Given the description of an element on the screen output the (x, y) to click on. 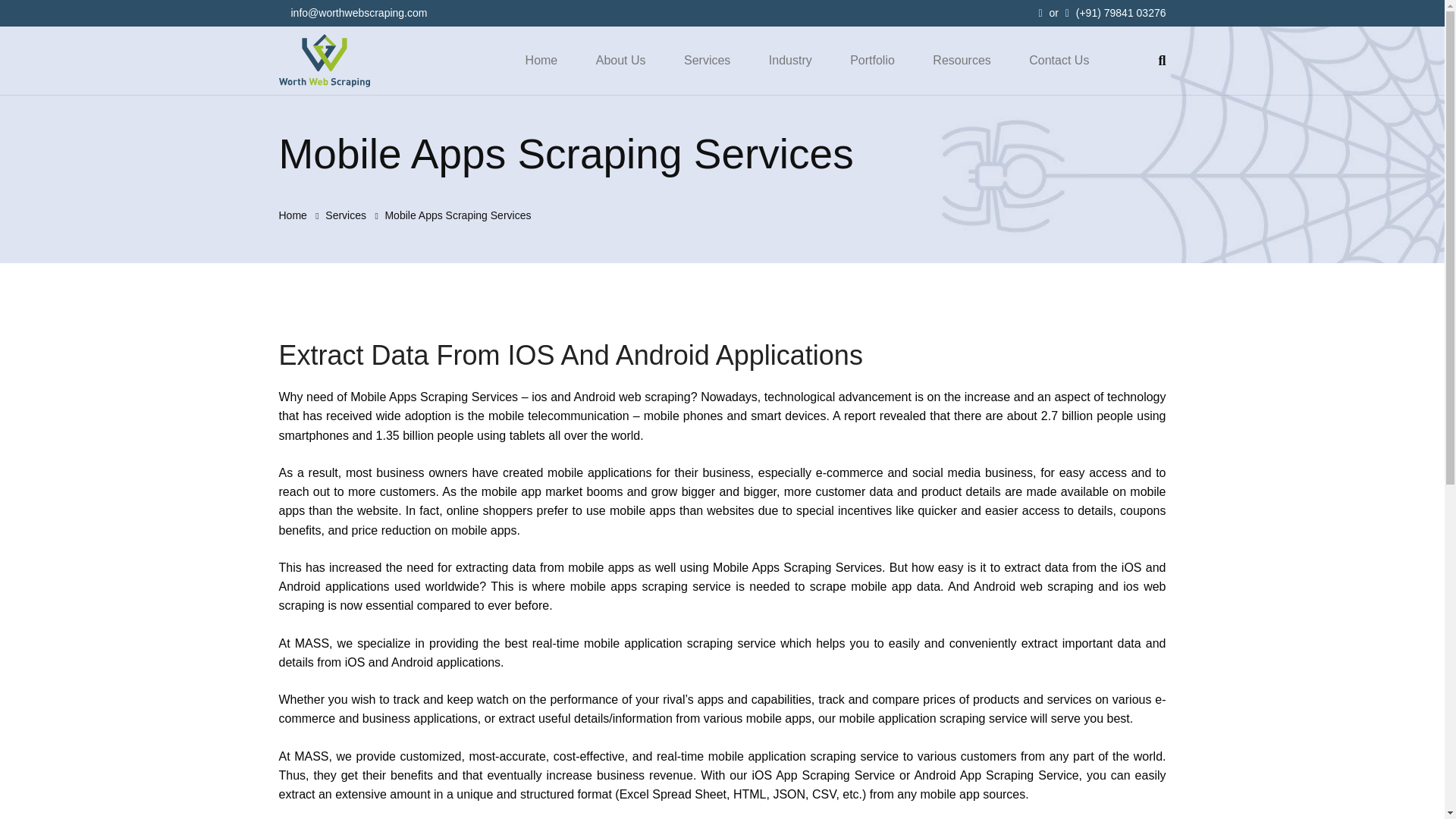
Services (706, 60)
Home (293, 215)
Services (345, 215)
About Us (620, 60)
Home (541, 60)
Industry (790, 60)
Contact Us (1058, 60)
Portfolio (871, 60)
Resources (961, 60)
